Given the description of an element on the screen output the (x, y) to click on. 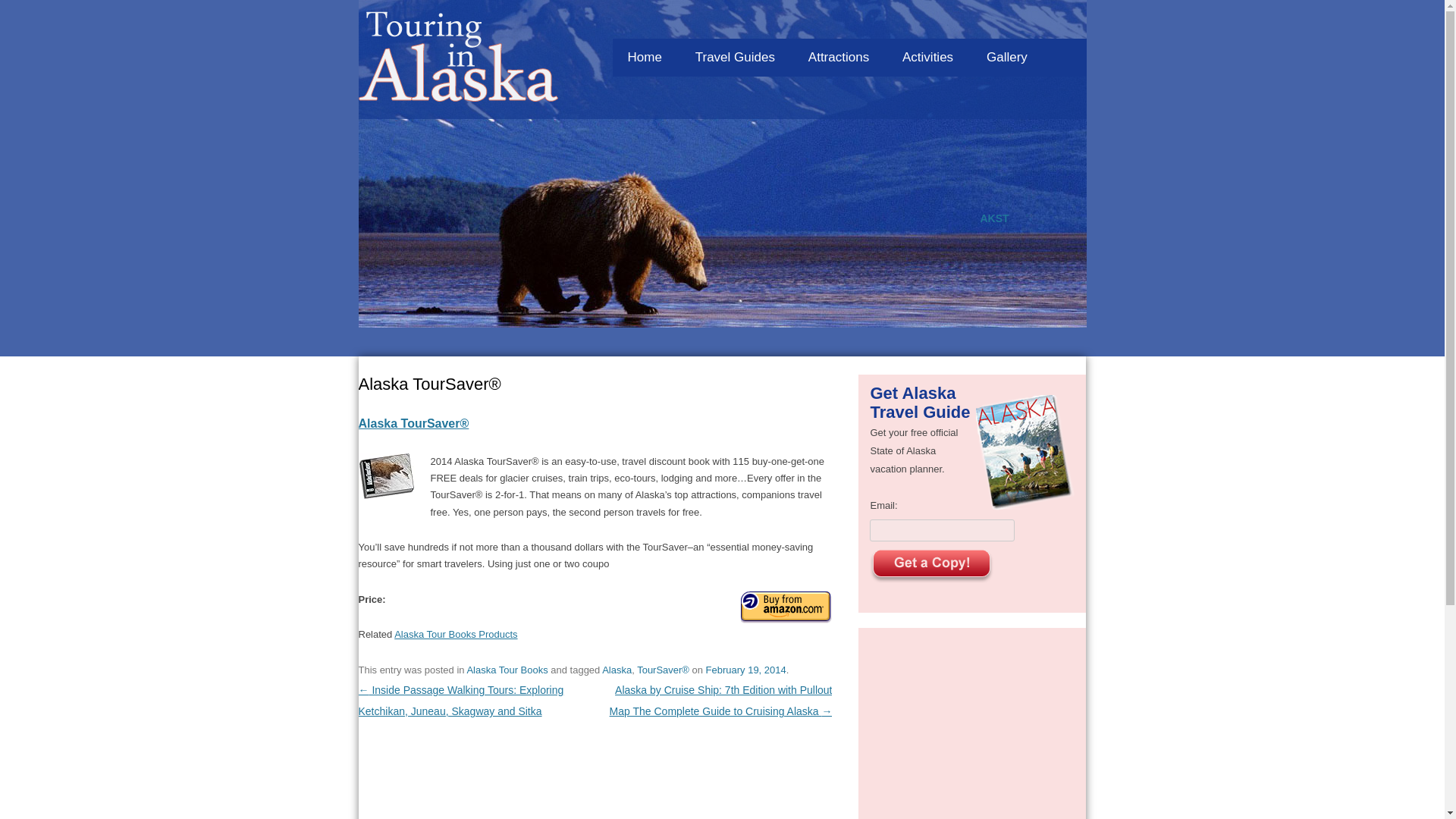
Send (930, 565)
Alaska Tour Books (506, 669)
7:26 am (746, 669)
Send (930, 565)
Attractions (838, 57)
Home (644, 57)
AKST local time (994, 218)
Alaska Tour Books Products (455, 633)
Activities (927, 57)
Skip to content (884, 34)
Alaska (616, 669)
ALASKA WEATHER (722, 295)
Gallery (1006, 57)
February 19, 2014 (746, 669)
Weather Widget (722, 295)
